Given the description of an element on the screen output the (x, y) to click on. 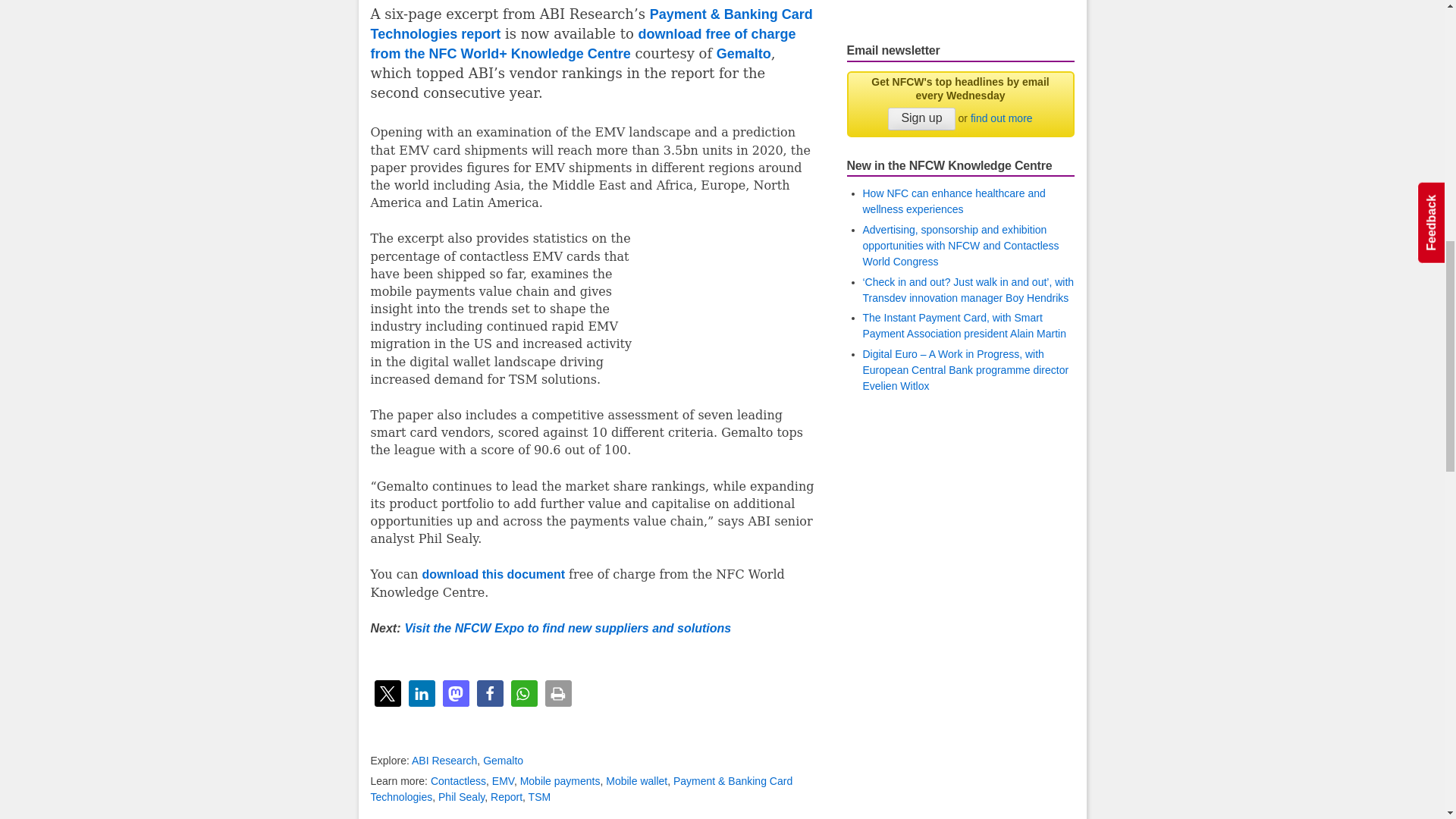
Share on LinkedIn (420, 693)
print (557, 693)
Share on Whatsapp (524, 693)
54 more items that mention ABI Research (444, 760)
Share on Facebook (489, 693)
Share on X (387, 693)
228 more items that mention Gemalto (502, 760)
Share on Mastodon (455, 693)
